Given the description of an element on the screen output the (x, y) to click on. 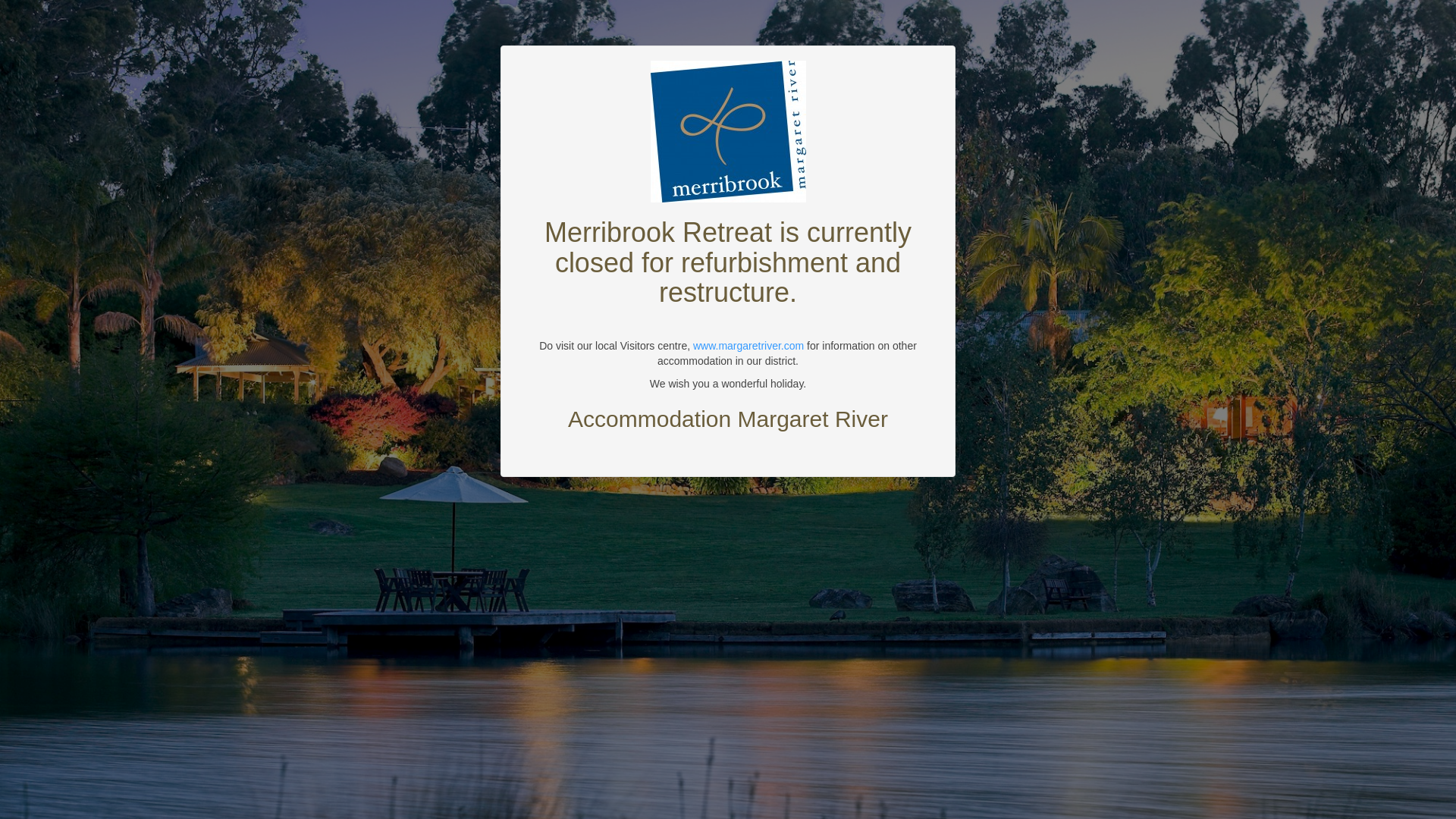
www.margaretriver.com Element type: text (748, 345)
